Given the description of an element on the screen output the (x, y) to click on. 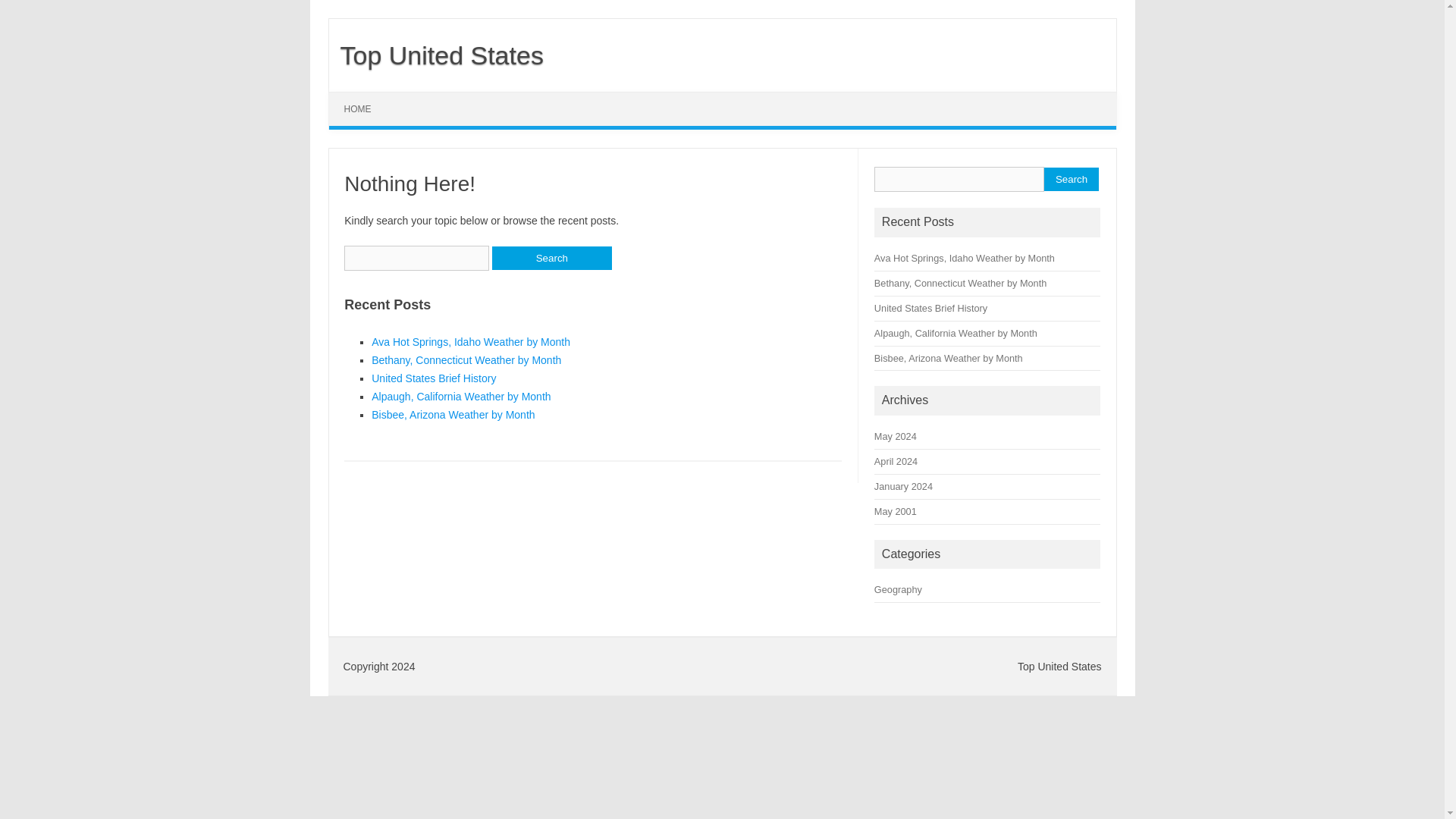
January 2024 (904, 486)
United States Brief History (931, 307)
Search (1070, 178)
United States Brief History (433, 378)
Skip to content (363, 96)
Ava Hot Springs, Idaho Weather by Month (964, 257)
April 2024 (896, 460)
Skip to content (363, 96)
May 2001 (896, 511)
Bethany, Connecticut Weather by Month (960, 283)
